Given the description of an element on the screen output the (x, y) to click on. 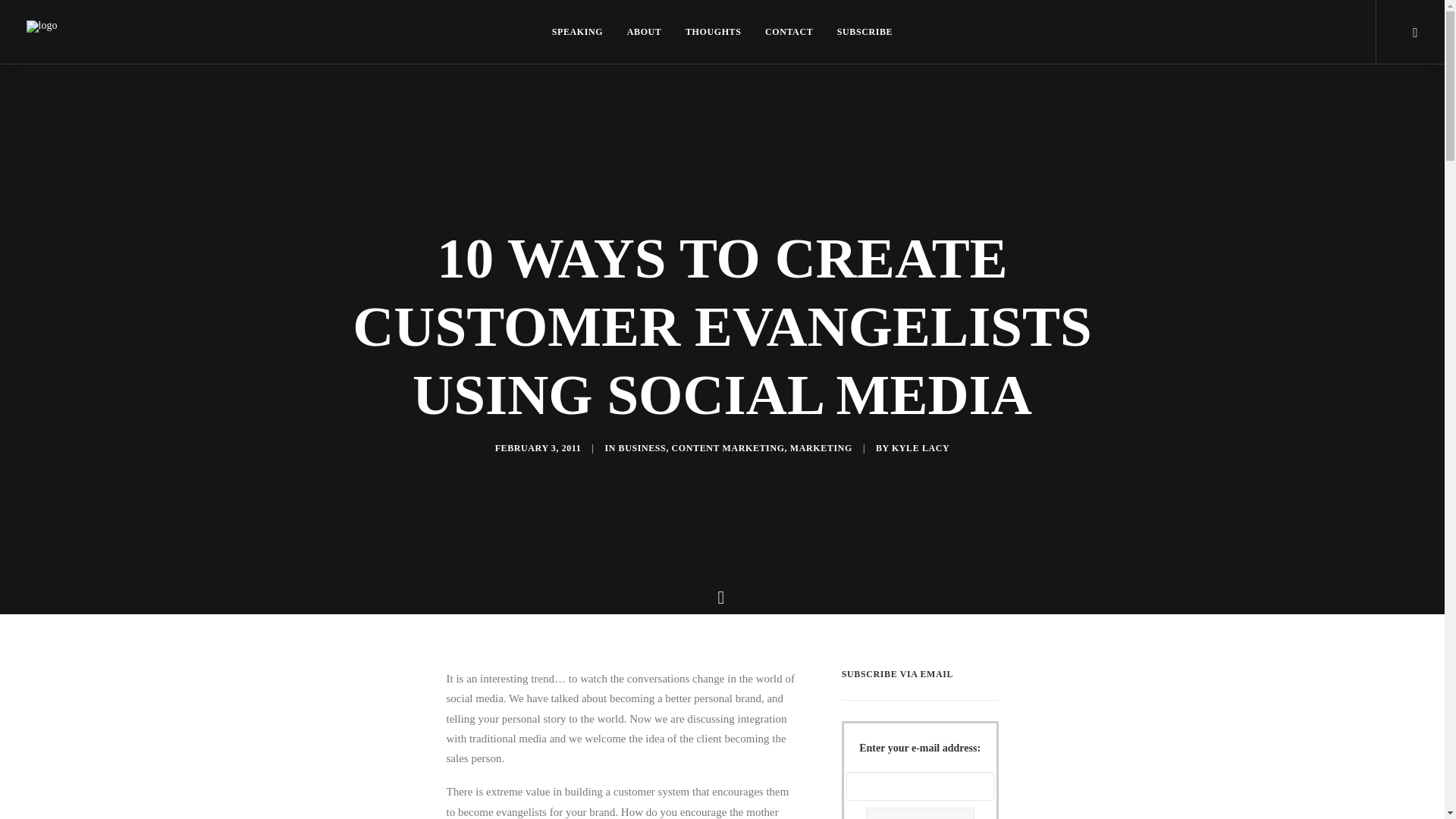
View all posts in Business (642, 448)
SPEAKING (581, 31)
View all posts in Marketing (820, 448)
SUBSCRIBE (859, 31)
Speaking (581, 31)
KYLE LACY (920, 448)
BUSINESS (642, 448)
THOUGHTS (713, 31)
Contact (789, 31)
Subscribe (859, 31)
Subscribe (920, 813)
MARKETING (820, 448)
CONTENT MARKETING (727, 448)
CONTACT (789, 31)
Thoughts (713, 31)
